Given the description of an element on the screen output the (x, y) to click on. 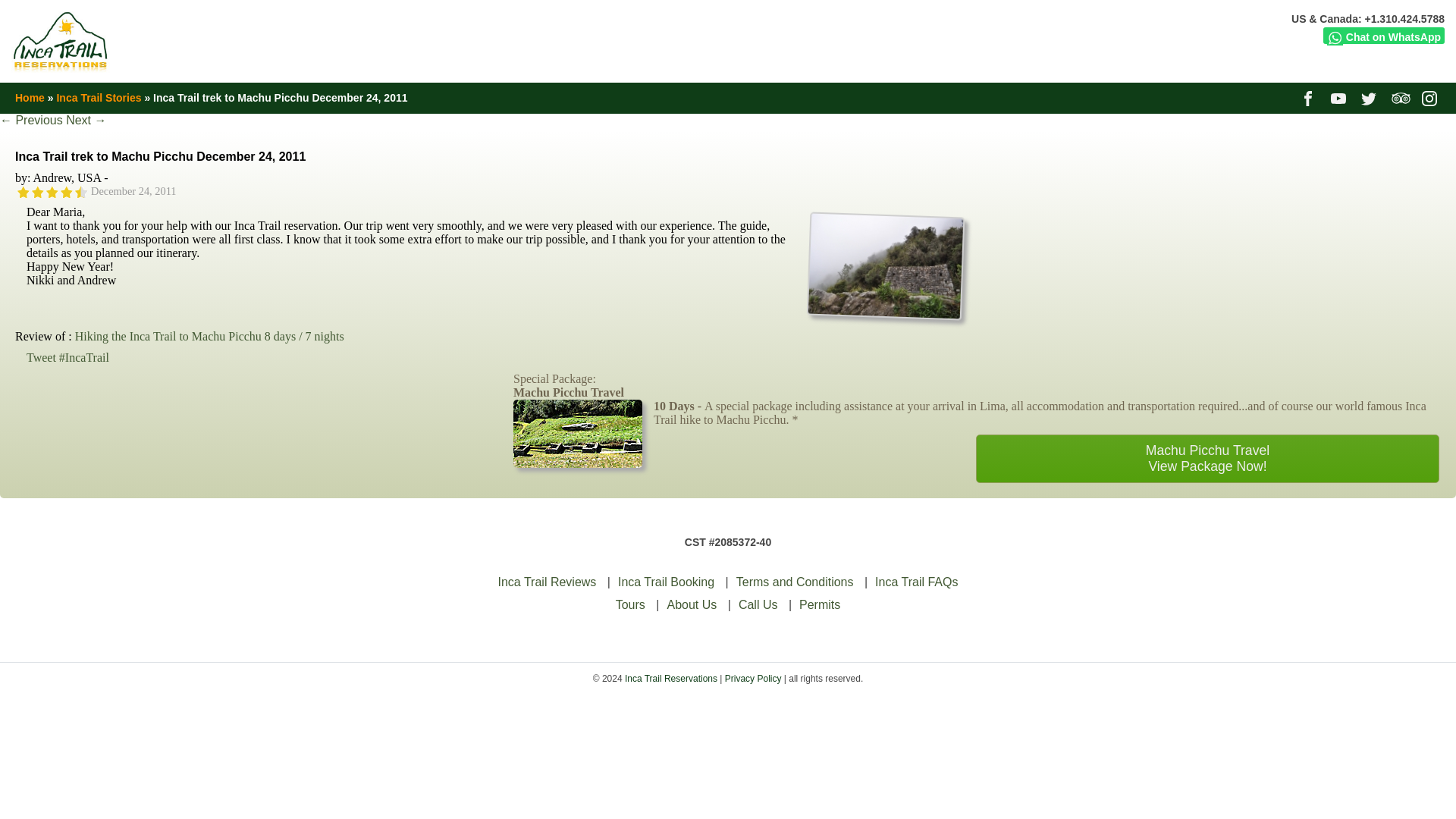
Inca Trail Stories (98, 97)
twitter (1370, 97)
Machu Picchu Inca Trail December 24 2011 (883, 262)
facebook (1309, 97)
Permits (819, 604)
About Us (691, 604)
Inca Trail Reservations (670, 678)
Tours (630, 604)
Chat on WhatsApp (1383, 35)
Inca Trail Reviews (546, 581)
Call Us (757, 604)
Machu Picchu Inca Trail December 24 2011 (883, 309)
youtube (1339, 97)
instagram (1431, 97)
Privacy Policy (753, 678)
